Given the description of an element on the screen output the (x, y) to click on. 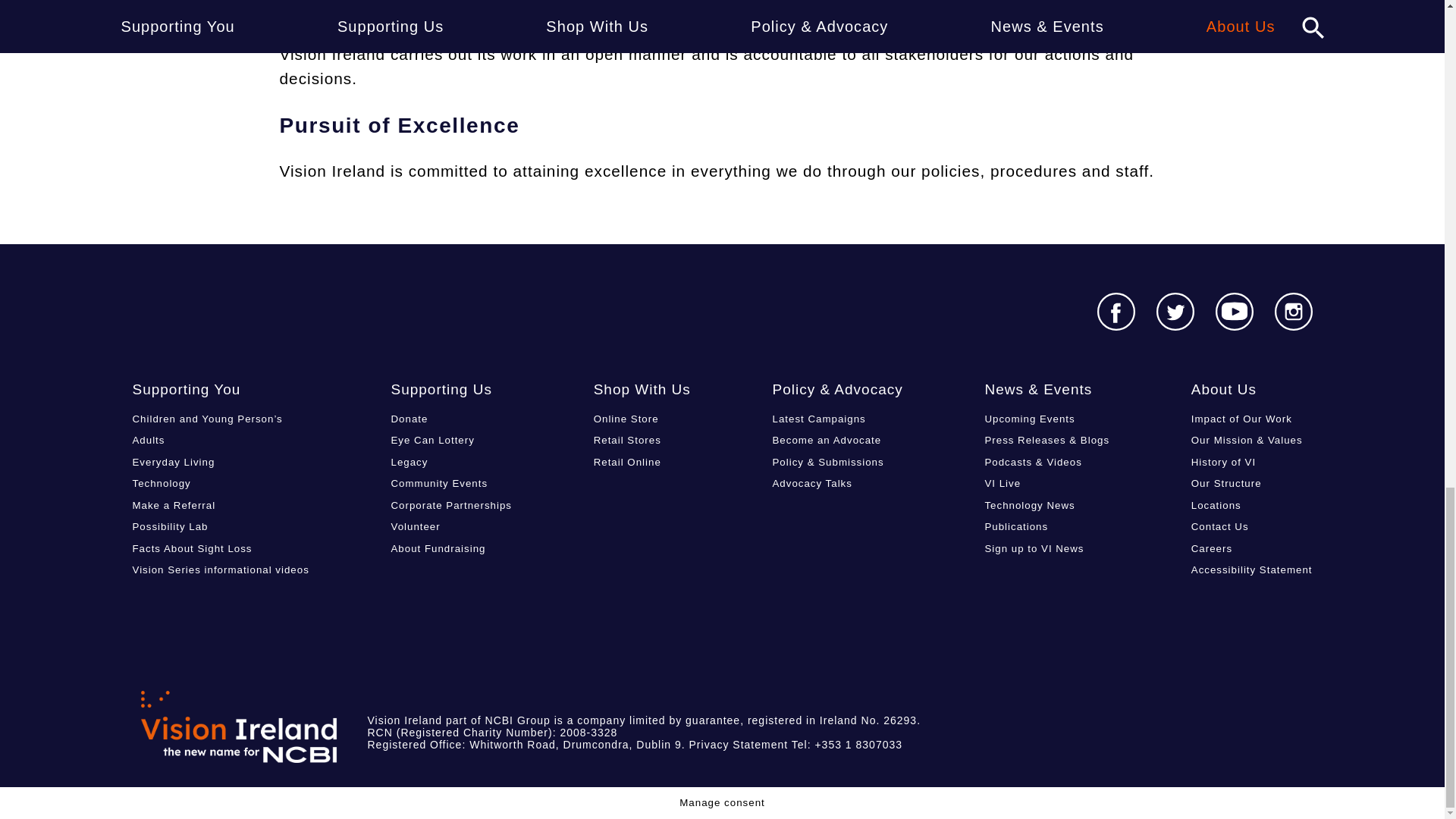
twitter icon (1174, 311)
facebook icon (1115, 311)
youtube icon (1233, 311)
